Given the description of an element on the screen output the (x, y) to click on. 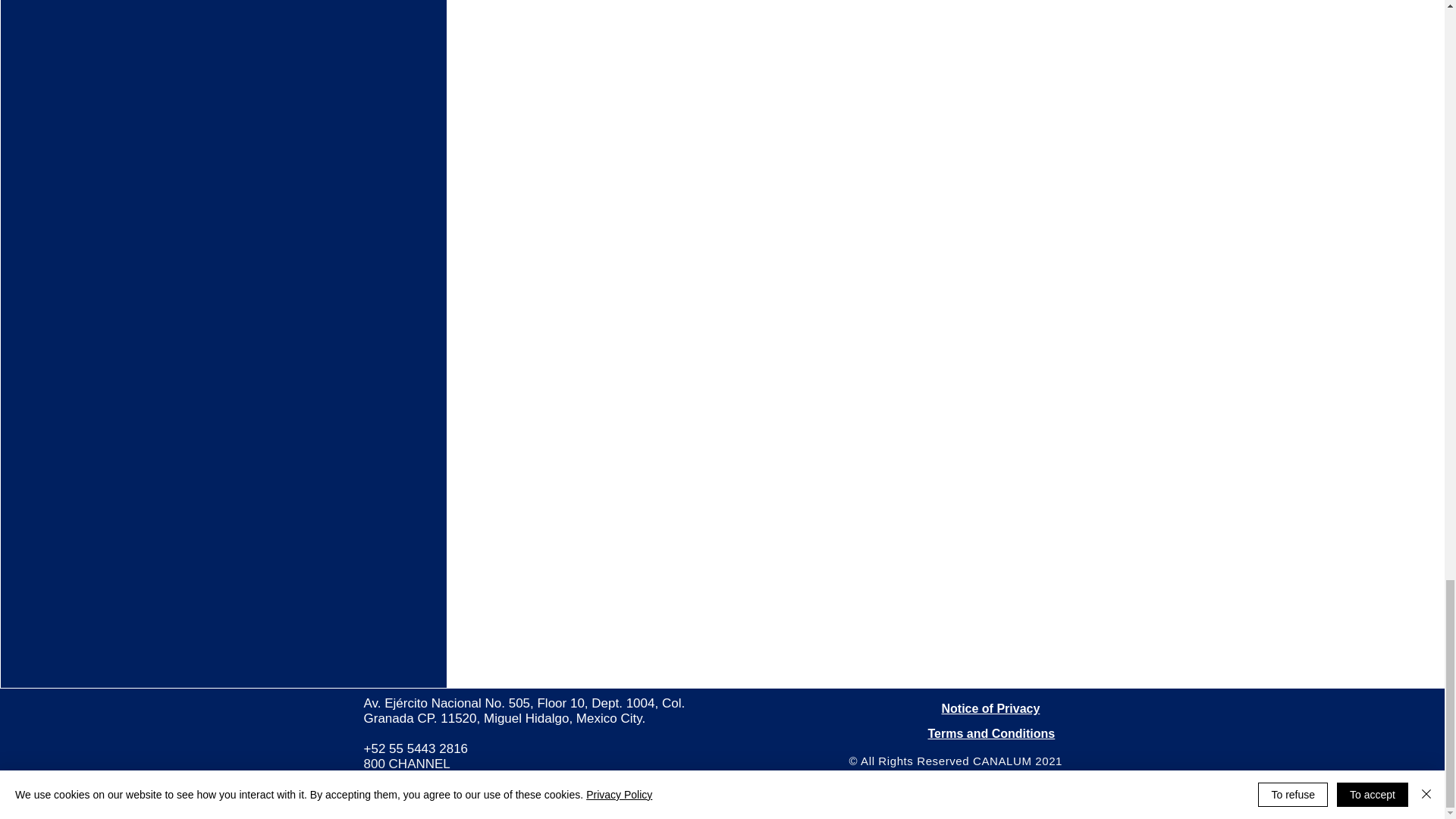
Terms and Conditions (991, 733)
Notice of Privacy (991, 708)
